Given the description of an element on the screen output the (x, y) to click on. 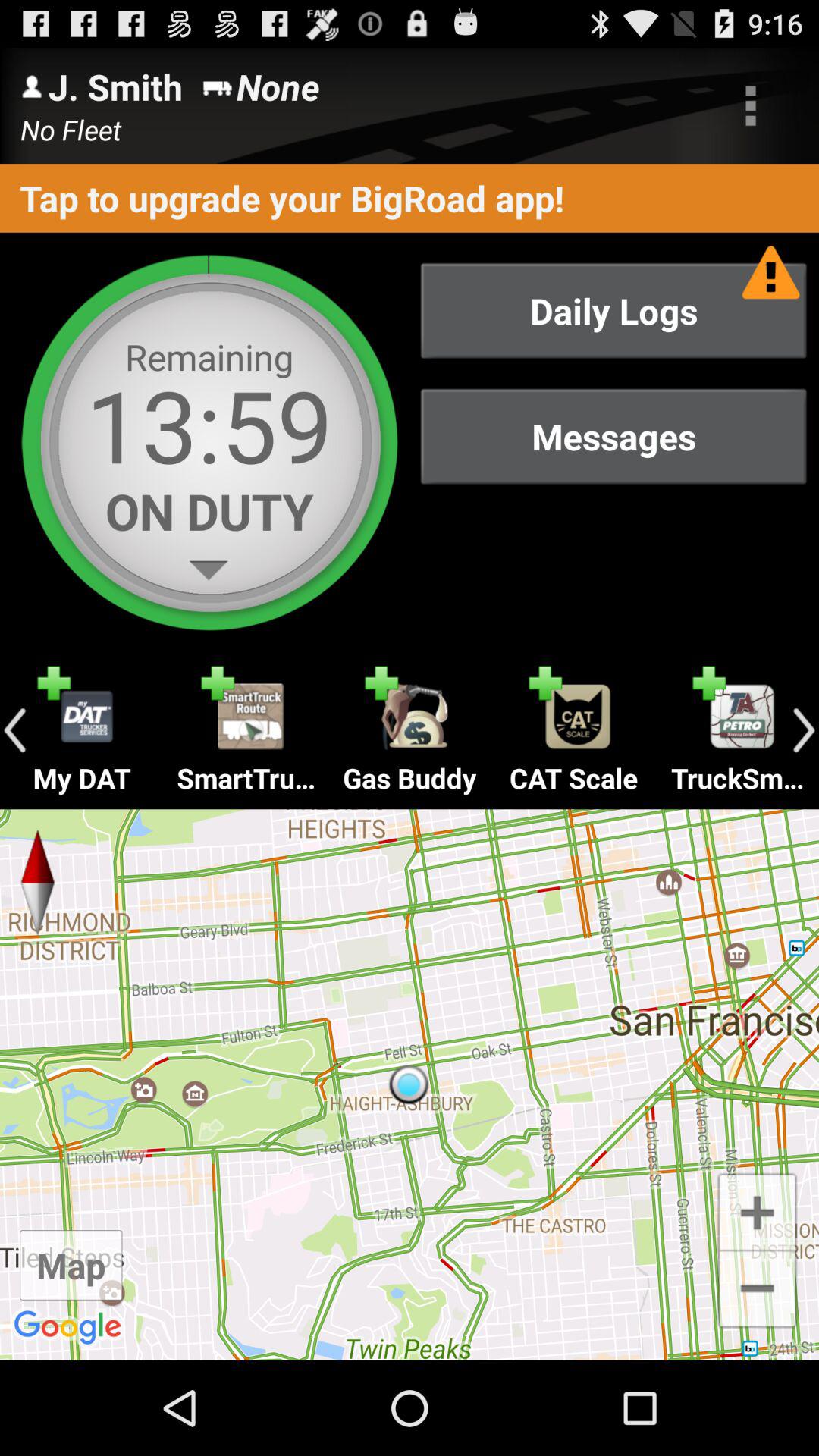
turn on messages button (613, 436)
